Given the description of an element on the screen output the (x, y) to click on. 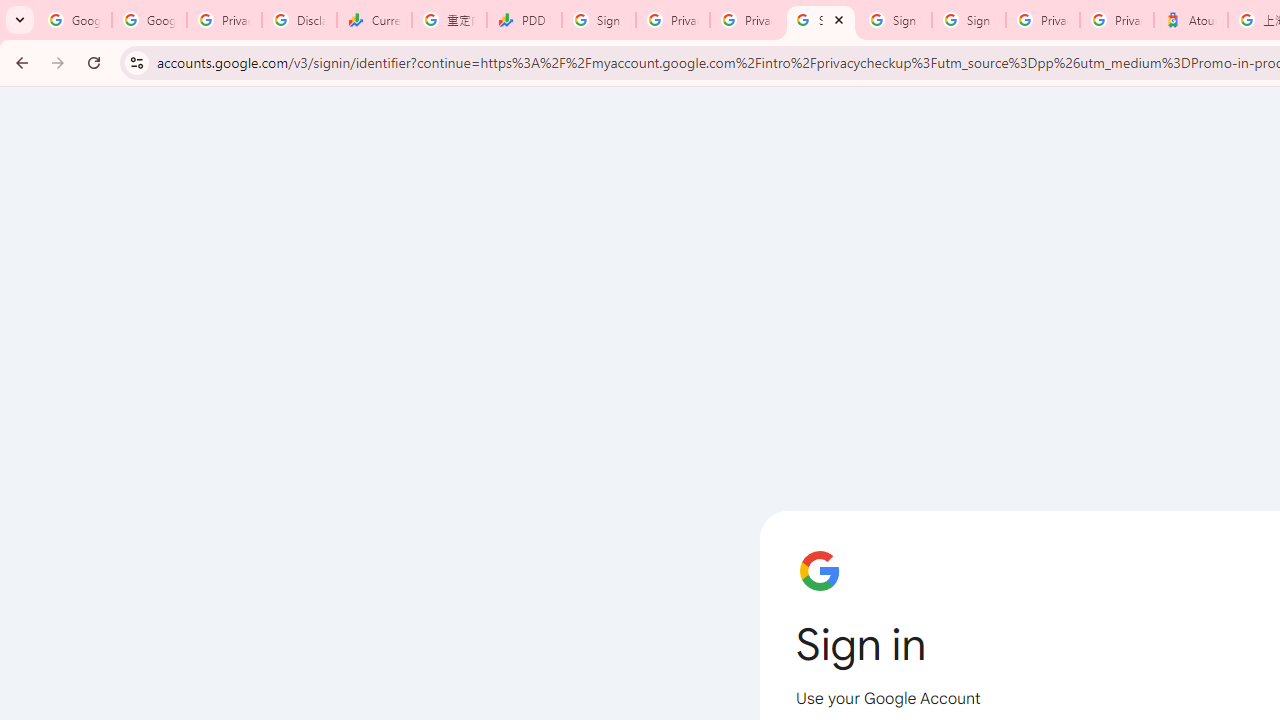
Sign in - Google Accounts (894, 20)
Sign in - Google Accounts (968, 20)
Atour Hotel - Google hotels (1190, 20)
PDD Holdings Inc - ADR (PDD) Price & News - Google Finance (523, 20)
